Given the description of an element on the screen output the (x, y) to click on. 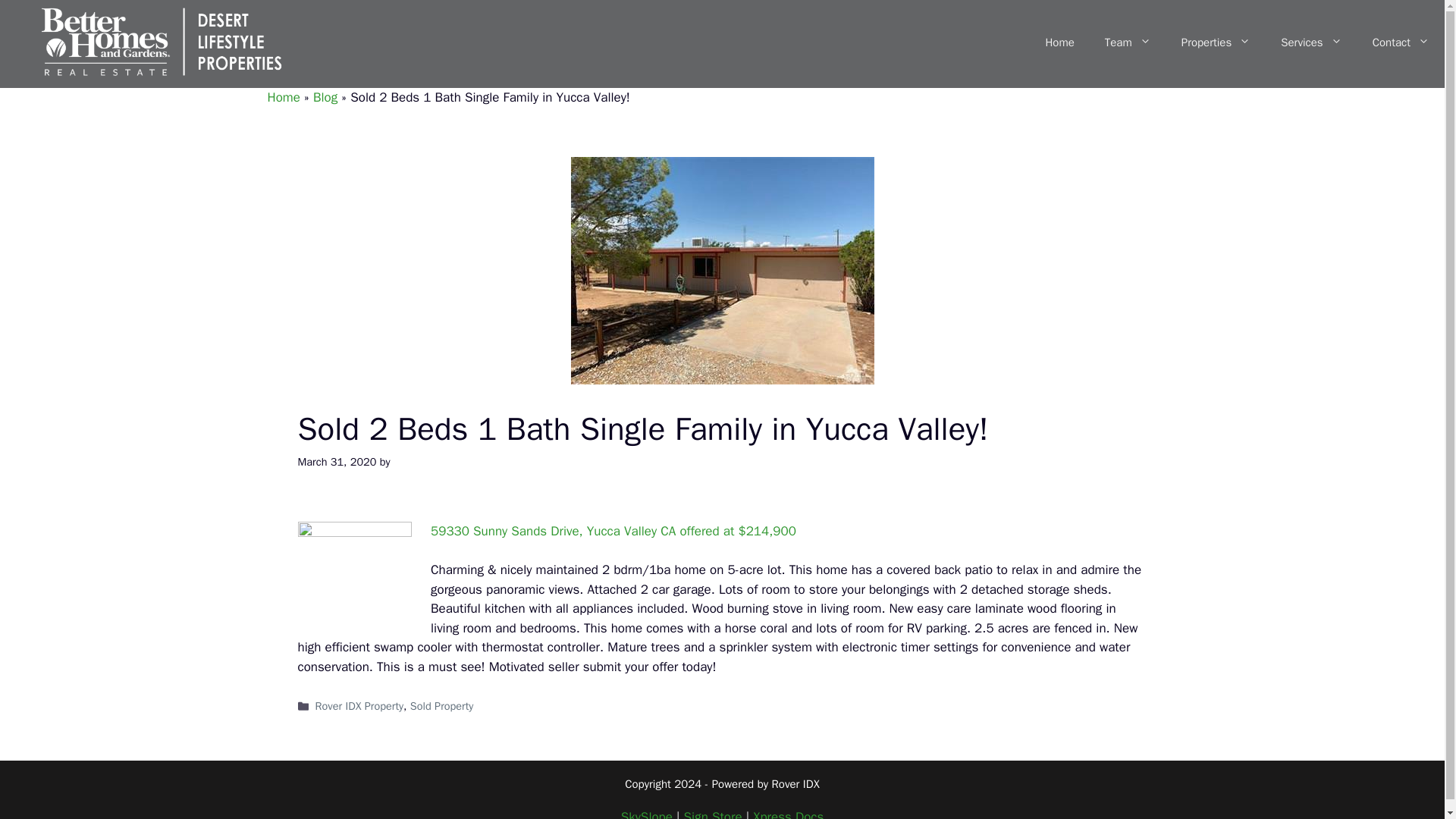
Properties (1216, 42)
Team (1127, 42)
Home (1059, 42)
